Given the description of an element on the screen output the (x, y) to click on. 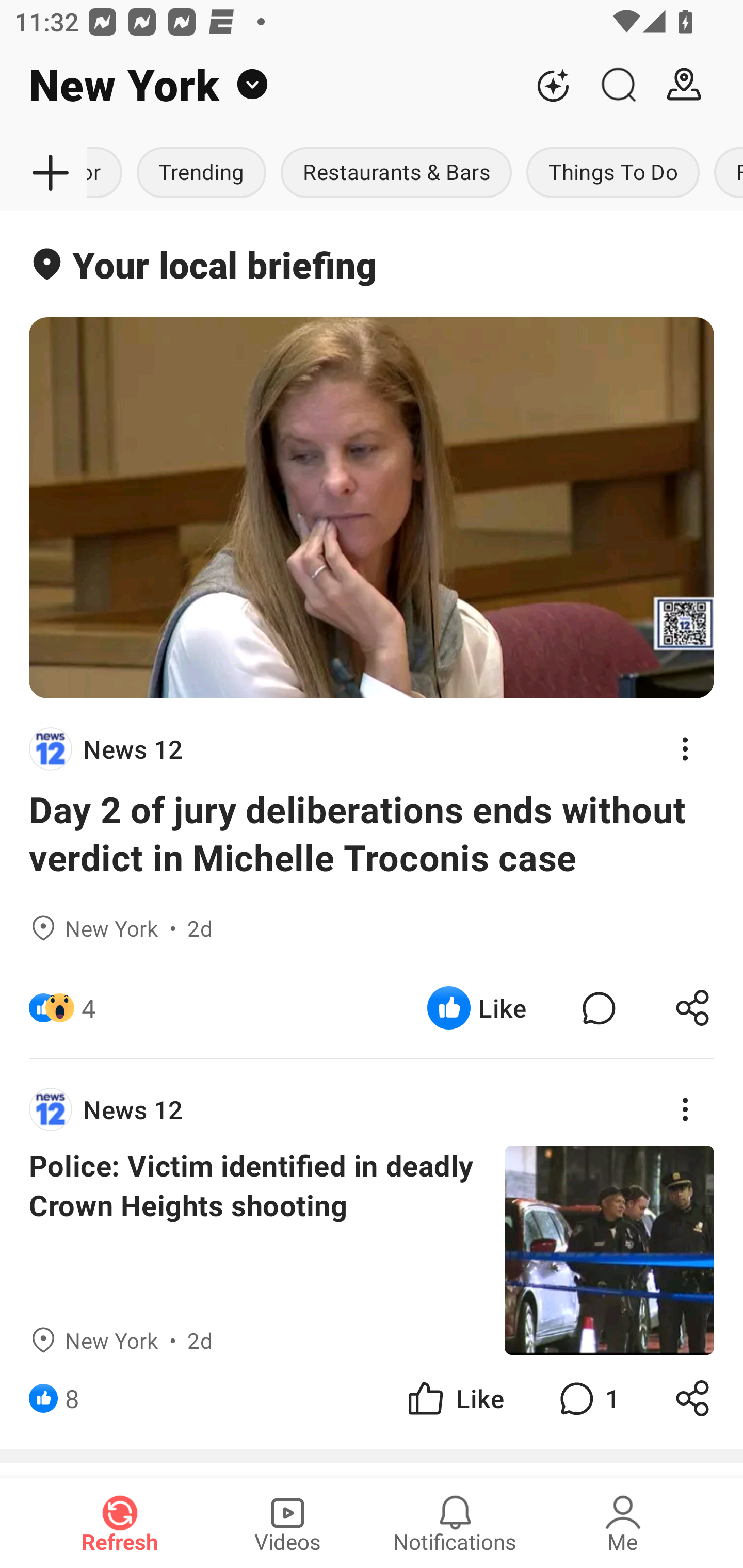
New York (260, 84)
Trending (201, 172)
Restaurants & Bars (396, 172)
Things To Do (612, 172)
4 (88, 1007)
Like (476, 1007)
8 (72, 1397)
Like (454, 1397)
1 (587, 1397)
Videos (287, 1522)
Notifications (455, 1522)
Me (622, 1522)
